Given the description of an element on the screen output the (x, y) to click on. 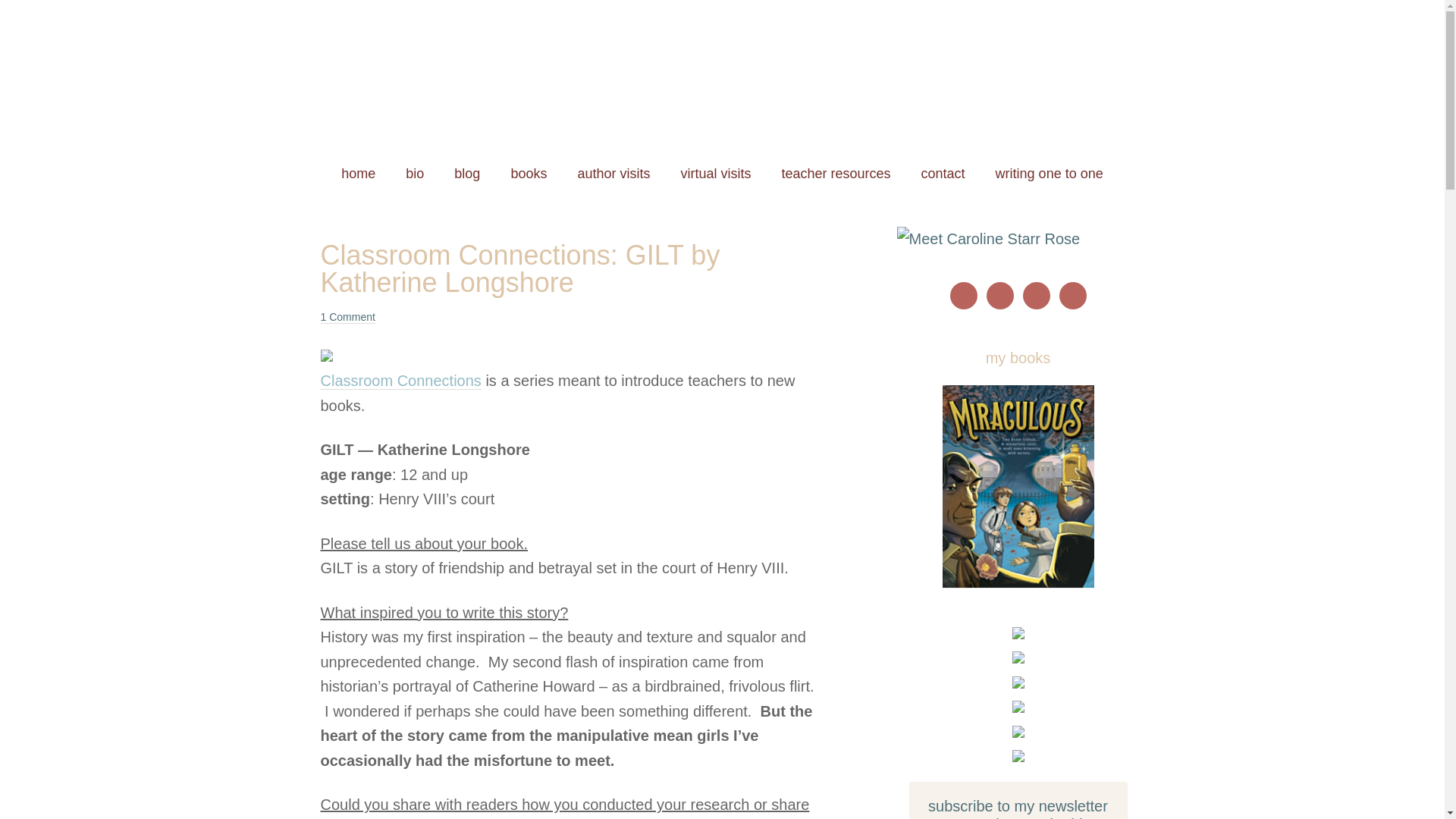
1 Comment (347, 317)
CAROLINE STARR ROSE (721, 75)
contact (942, 173)
Classroom Connections (400, 380)
books (528, 173)
blog (467, 173)
bio (414, 173)
virtual visits (715, 173)
author visits (613, 173)
writing one to one (1048, 173)
